Given the description of an element on the screen output the (x, y) to click on. 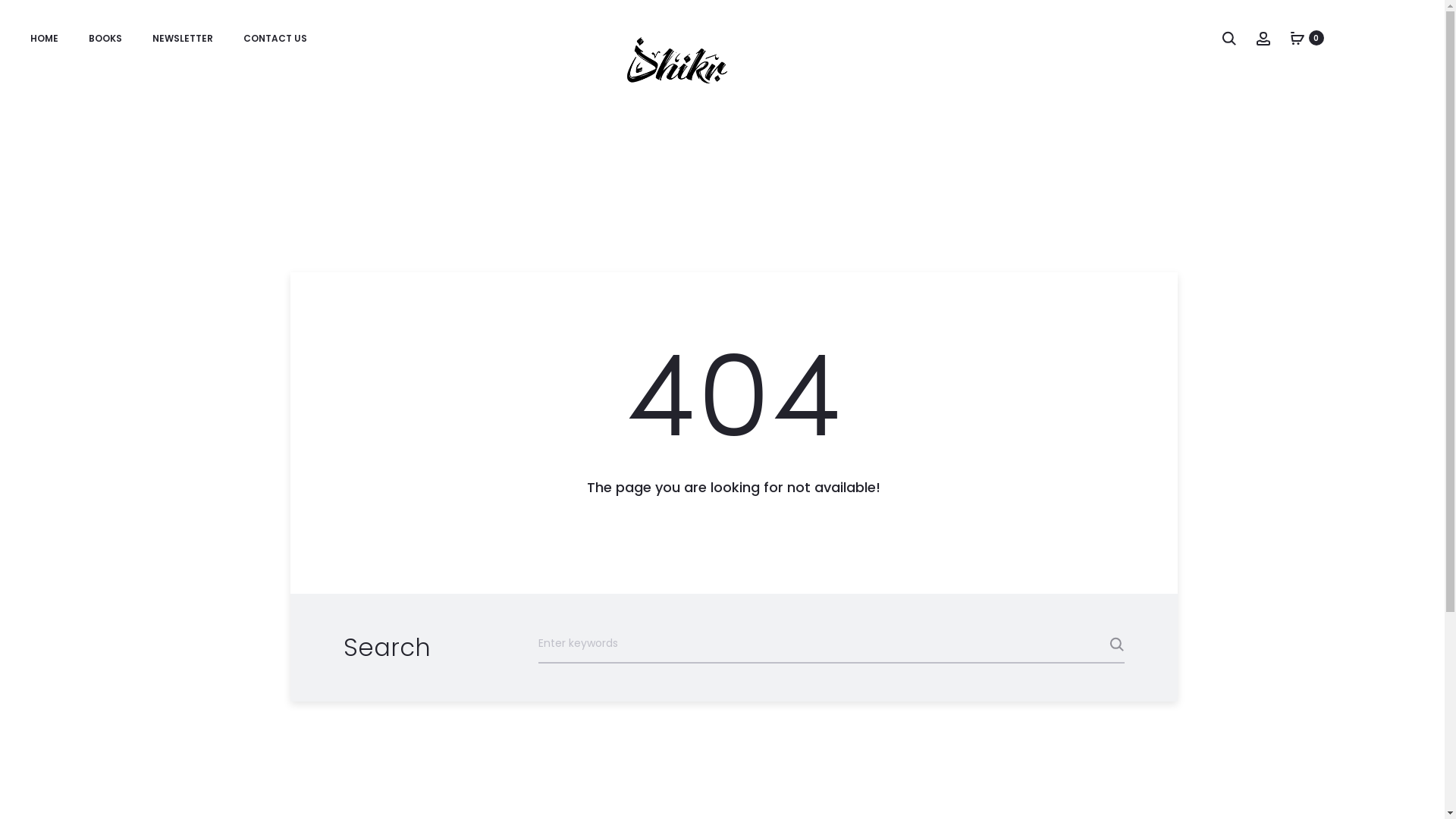
HOME Element type: text (44, 38)
NEWSLETTER Element type: text (182, 38)
CONTACT US Element type: text (275, 38)
0 Element type: text (1297, 37)
BOOKS Element type: text (105, 38)
Search Element type: text (1085, 643)
